Given the description of an element on the screen output the (x, y) to click on. 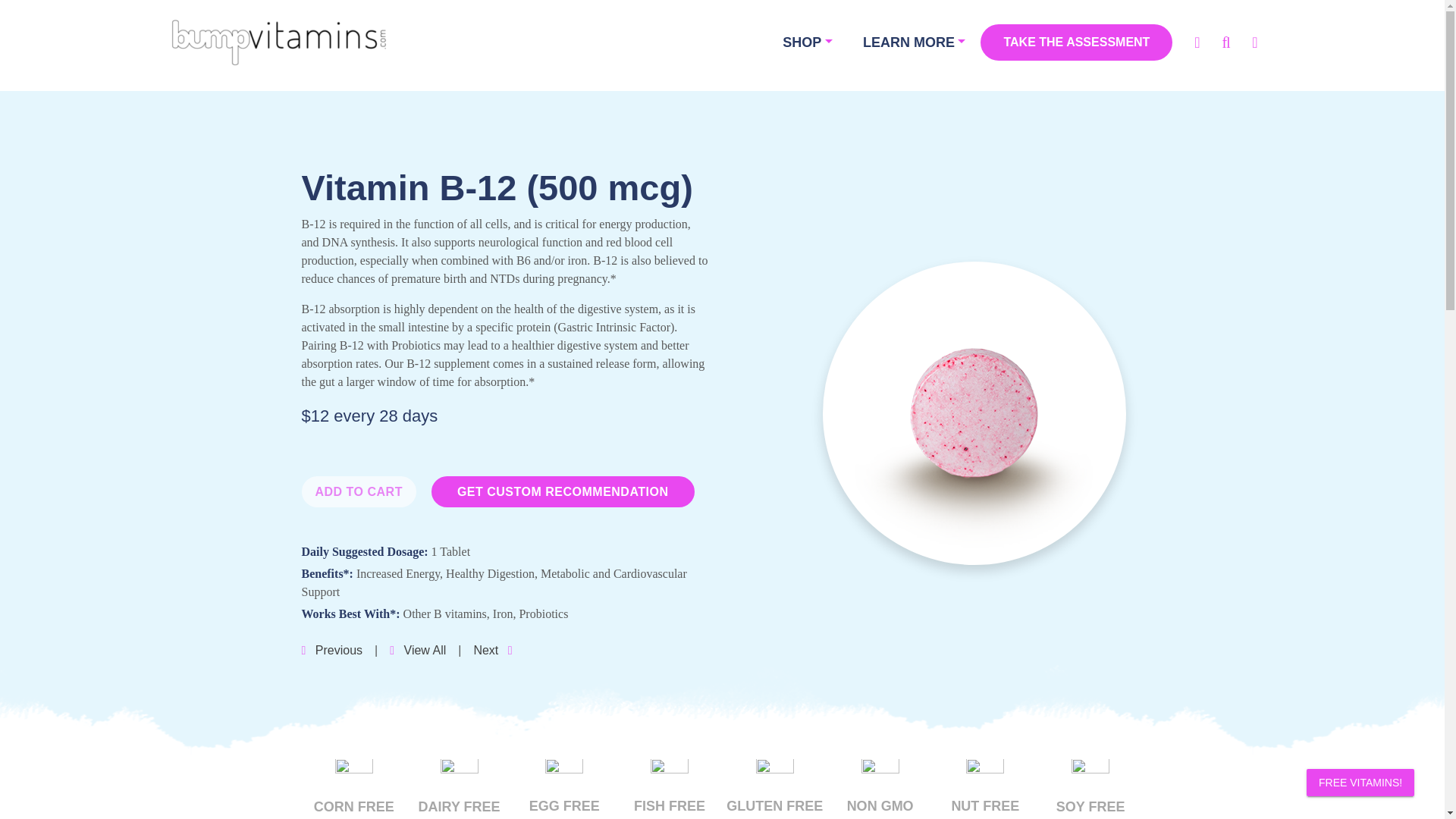
TAKE THE ASSESSMENT (1075, 42)
Search (1225, 42)
View your shopping cart (1254, 42)
Next (492, 649)
GET CUSTOM RECOMMENDATION (562, 490)
View All (417, 649)
Shop (807, 41)
Previous (331, 649)
TAKE THE ASSESSMENT (1075, 42)
Login (1196, 42)
